Given the description of an element on the screen output the (x, y) to click on. 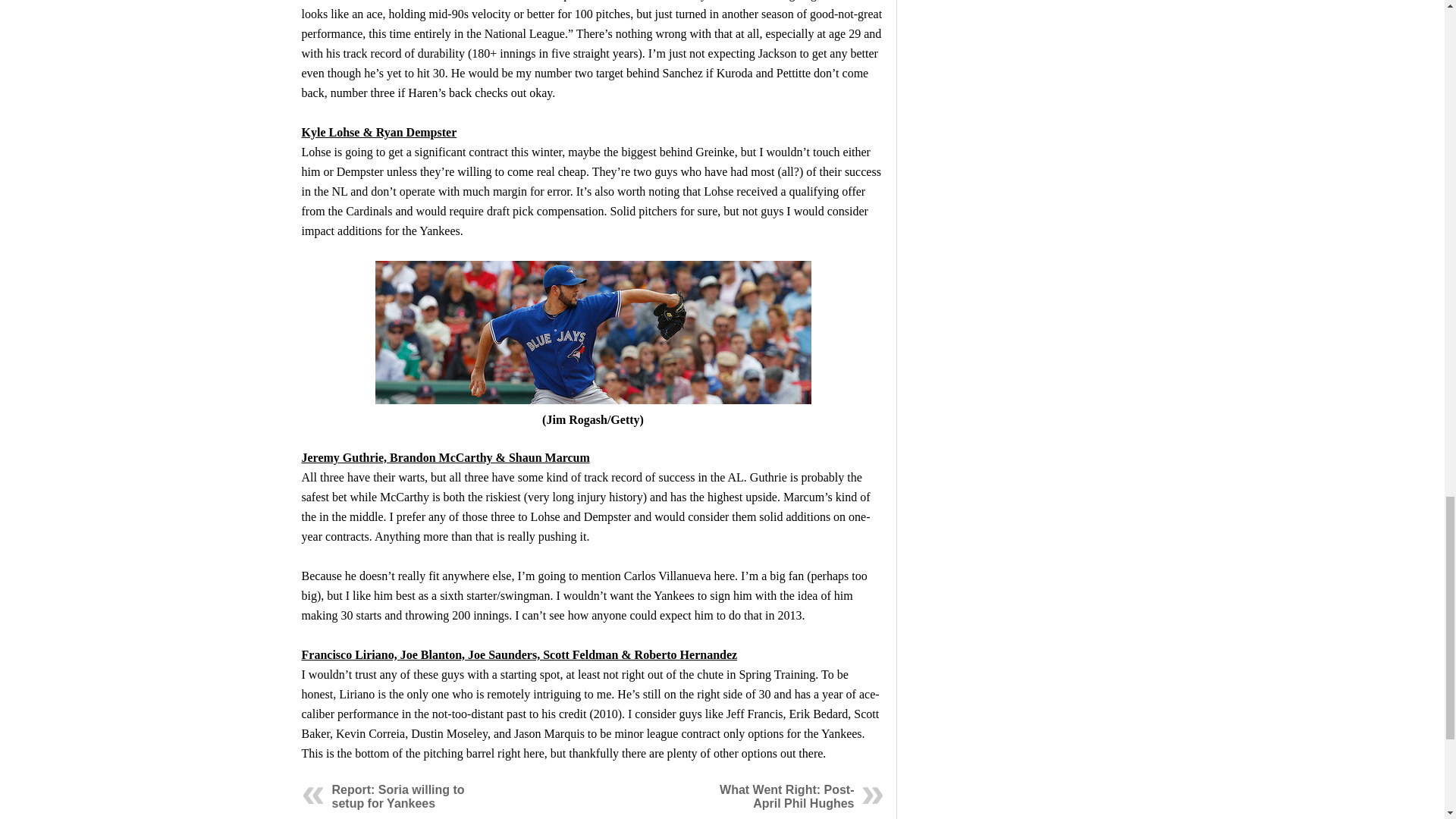
Keith Law (327, 0)
Carlos Villanueva (592, 332)
Report: Soria willing to setup for Yankees (397, 795)
What Went Right: Post-April Phil Hughes (786, 795)
